Given the description of an element on the screen output the (x, y) to click on. 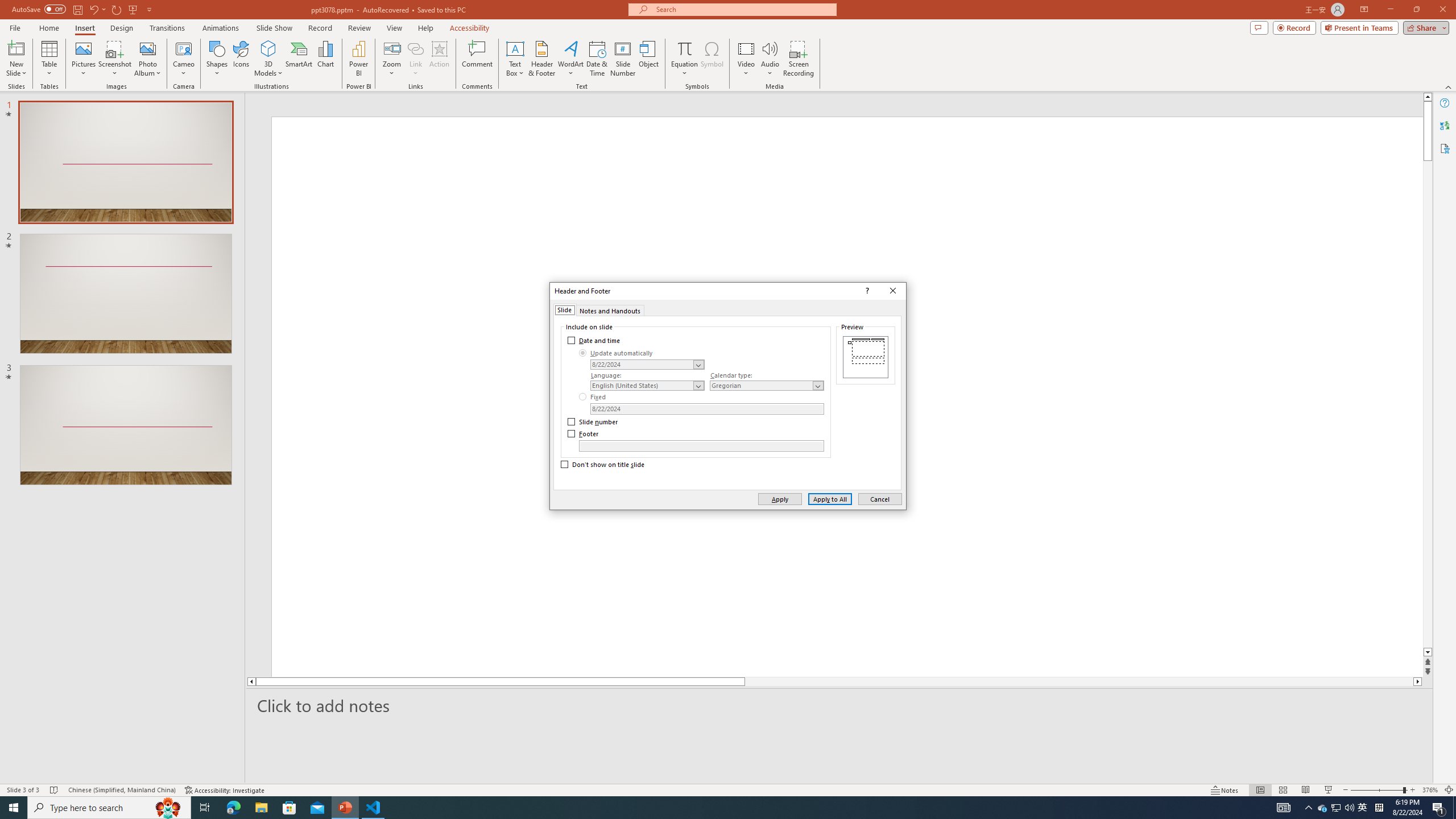
Fixed Date (706, 408)
WordArt (570, 58)
Footer (701, 445)
Apply to All (830, 498)
Date and time (594, 340)
Slide number (592, 421)
Video (745, 58)
